Given the description of an element on the screen output the (x, y) to click on. 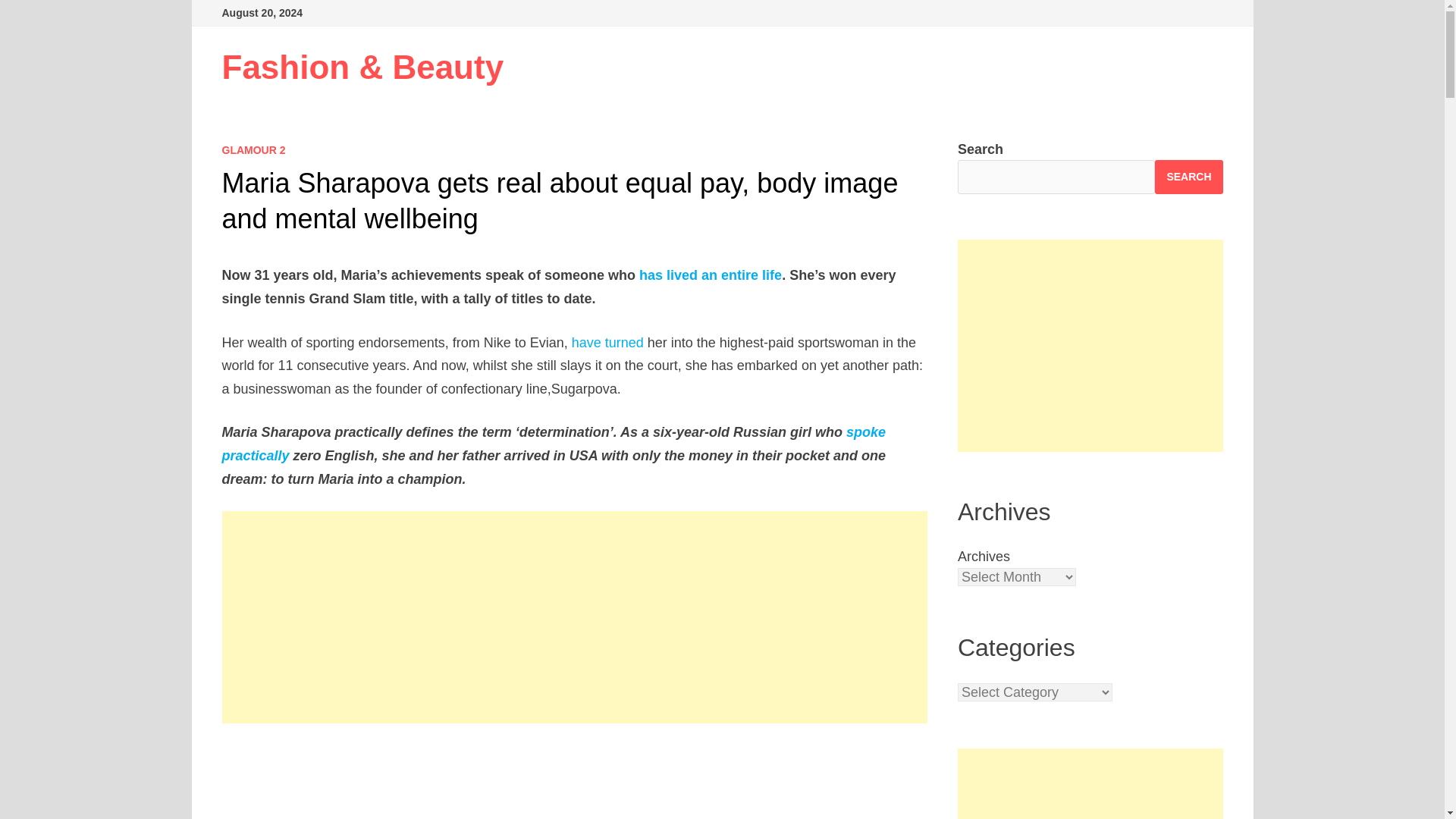
Advertisement (1090, 345)
Advertisement (574, 781)
GLAMOUR 2 (253, 150)
has lived an entire life (710, 274)
Advertisement (1090, 783)
SEARCH (1188, 176)
spoke practically (553, 444)
have turned (607, 342)
